Given the description of an element on the screen output the (x, y) to click on. 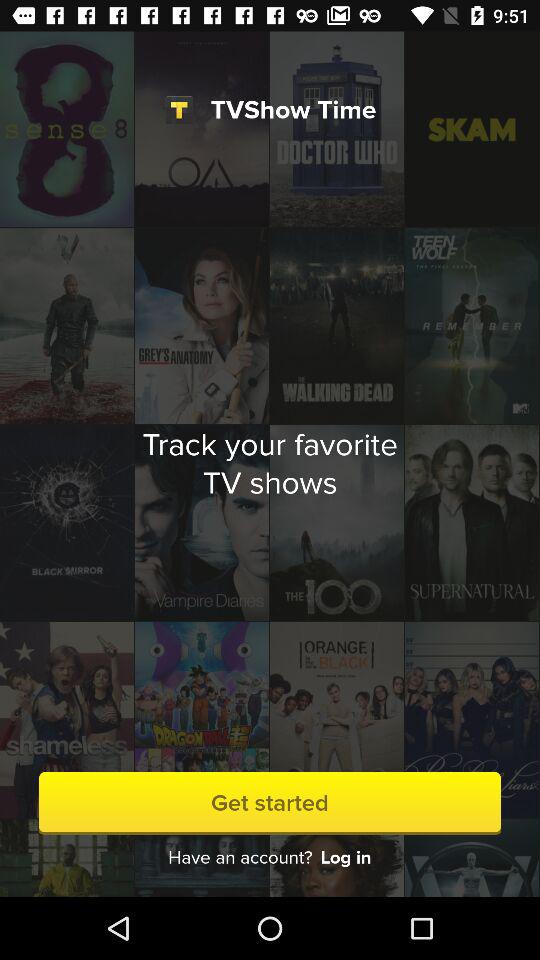
click the get started (269, 802)
